Given the description of an element on the screen output the (x, y) to click on. 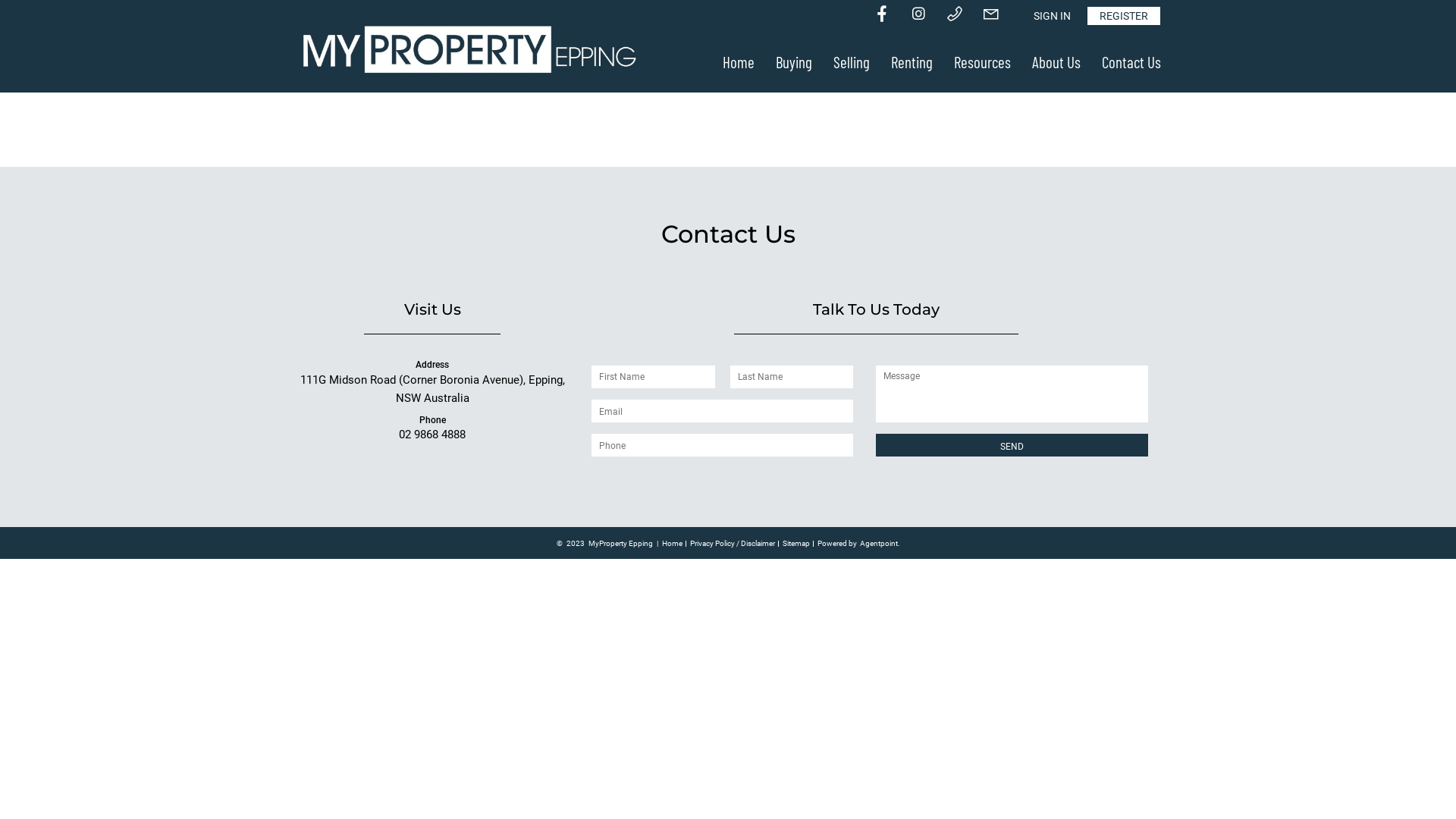
SIGN IN Element type: text (1051, 15)
Selling Element type: text (851, 61)
Home Element type: text (738, 61)
About Us Element type: text (1056, 61)
Sitemap Element type: text (795, 543)
Home Element type: text (671, 543)
SEND Element type: text (1011, 444)
Privacy Policy / Disclaimer Element type: text (732, 543)
Resources Element type: text (982, 61)
Agentpoint Element type: text (878, 543)
02 9868 4888 Element type: text (431, 434)
REGISTER Element type: text (1123, 15)
Contact Us Element type: text (1131, 61)
Renting Element type: text (911, 61)
Buying Element type: text (793, 61)
